Given the description of an element on the screen output the (x, y) to click on. 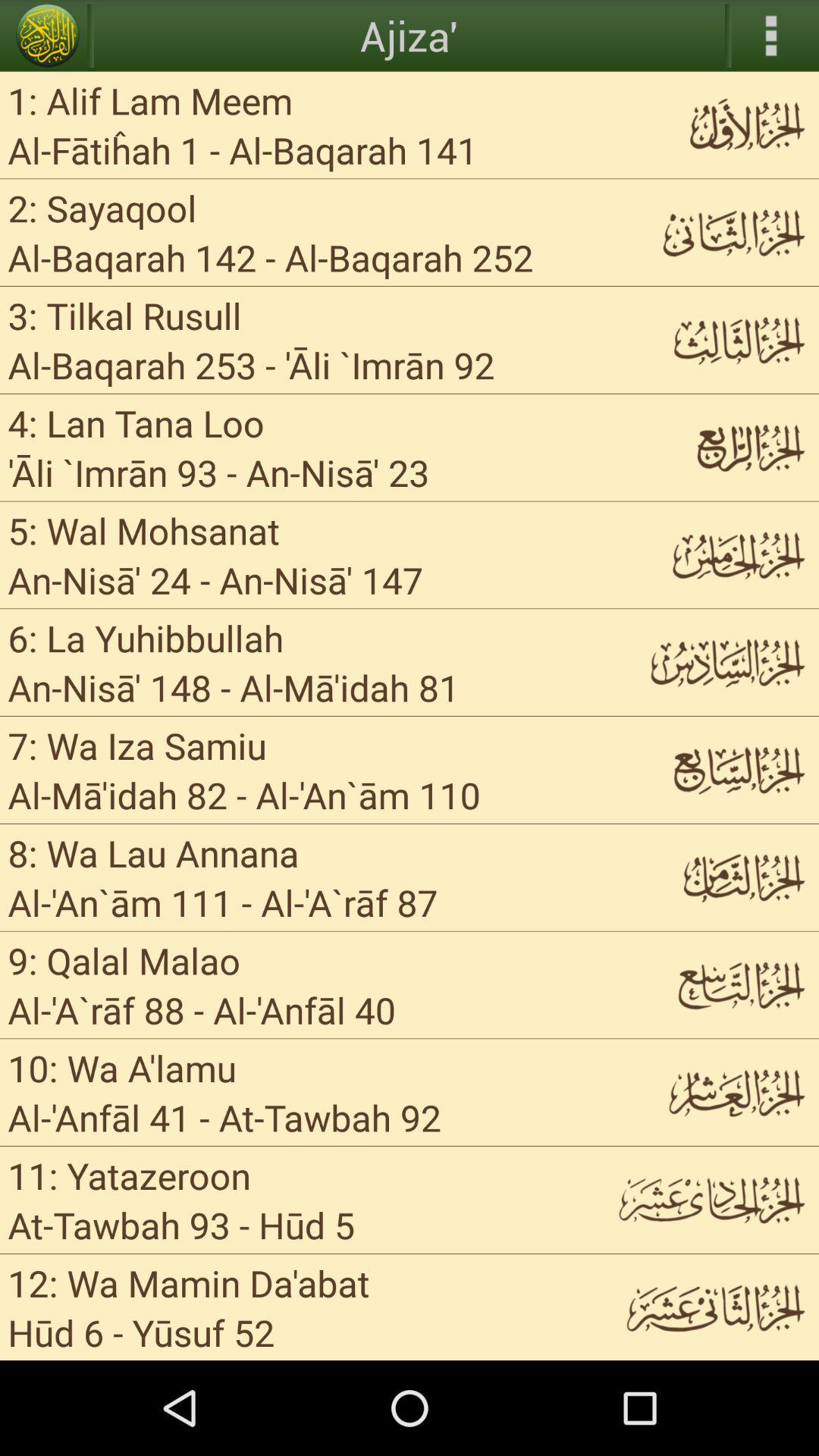
turn on the app above al baqarah 253 (124, 315)
